Given the description of an element on the screen output the (x, y) to click on. 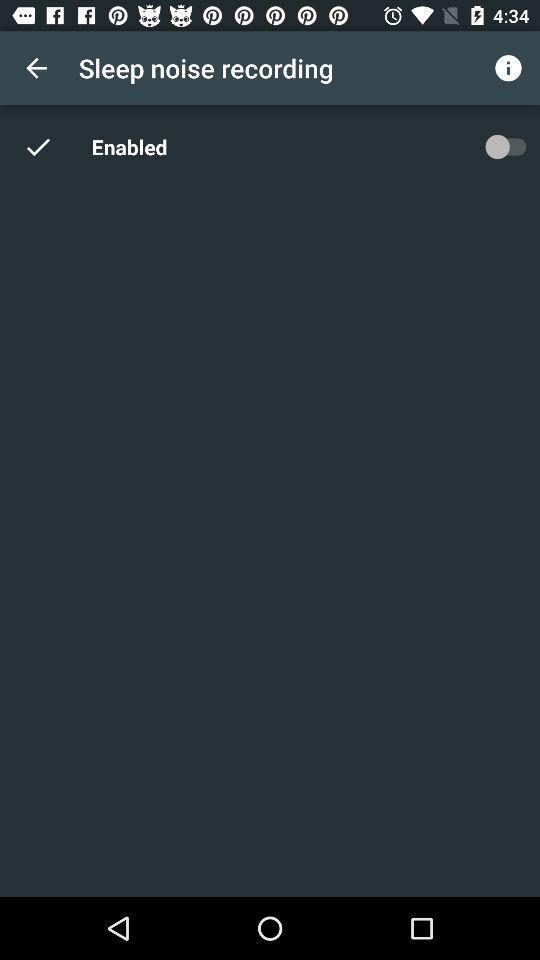
turn on item to the left of sleep noise recording (36, 68)
